Given the description of an element on the screen output the (x, y) to click on. 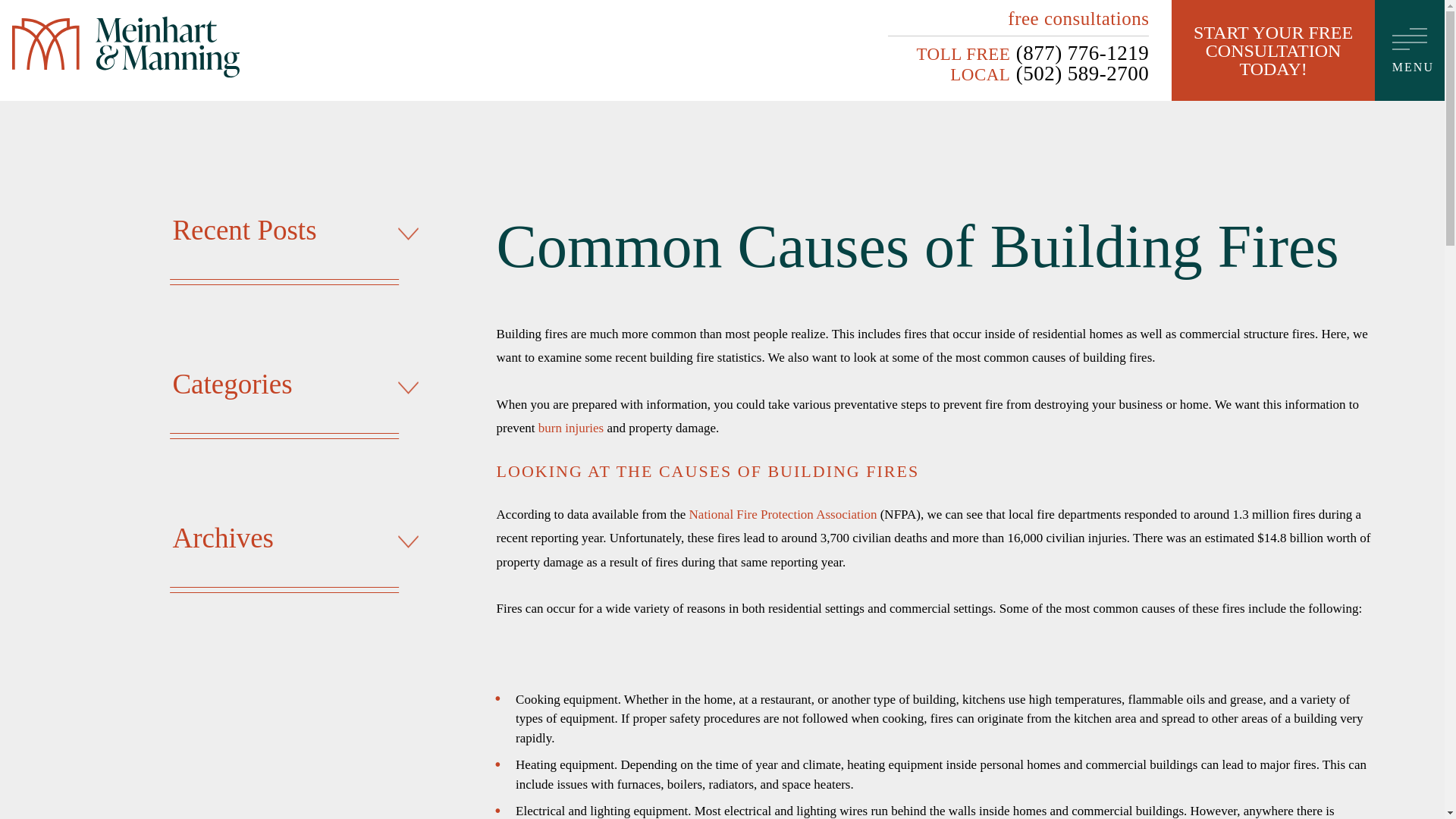
START YOUR FREE CONSULTATION TODAY! (1273, 50)
